Given the description of an element on the screen output the (x, y) to click on. 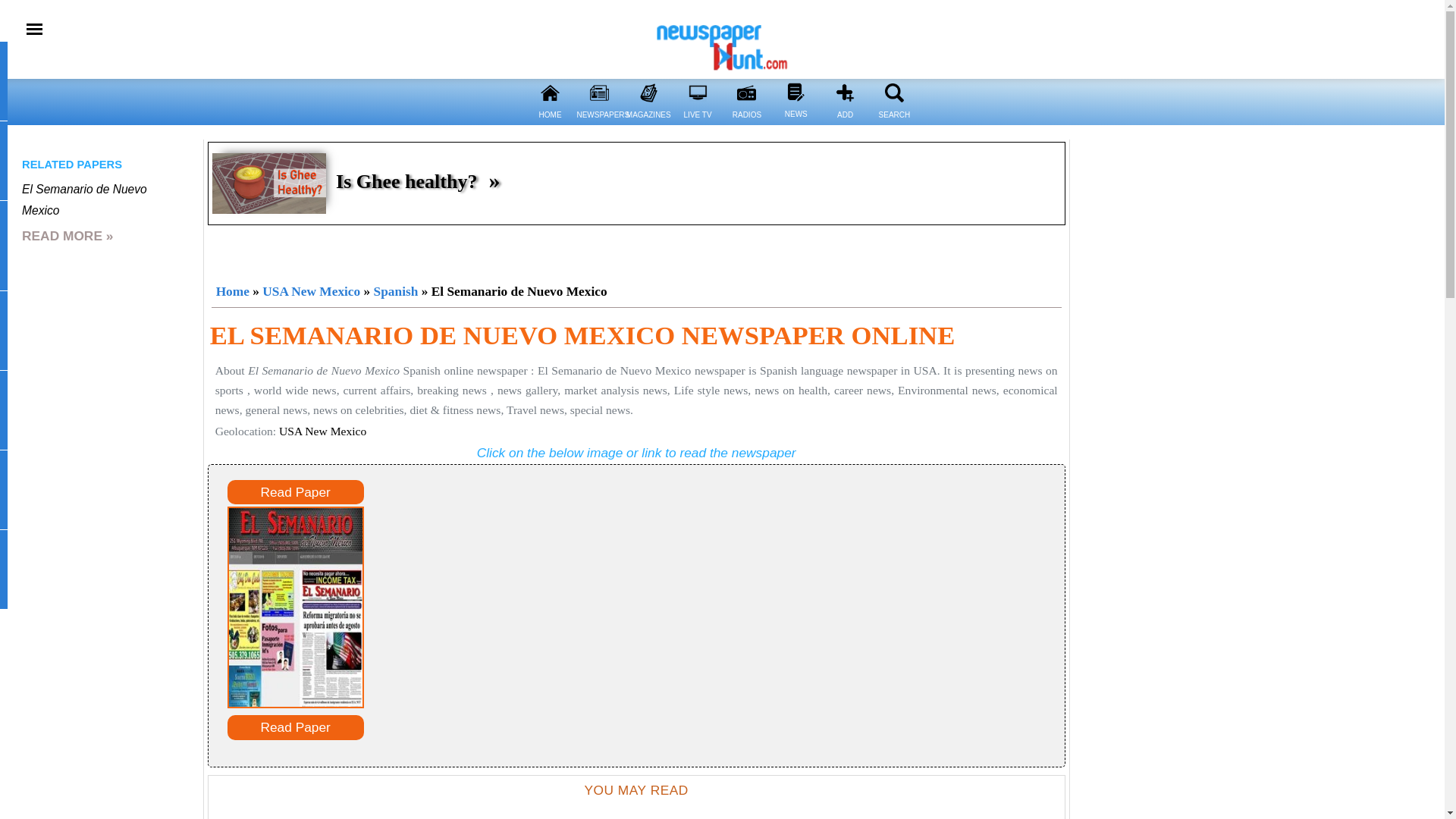
Spanish Newspapers in usa-new-mexico (396, 291)
Read Paper (295, 727)
Spanish (396, 291)
MAGAZINE (648, 92)
NEWSPAPERS (598, 124)
USA New Mexico Newspapers (310, 291)
ADD PAPER (844, 92)
Home (231, 291)
El Semanario de Nuevo Mexico (84, 199)
ADD (844, 124)
USA New Mexico (310, 291)
HOME (549, 92)
Read Paper (295, 492)
SEARCH (894, 92)
SEARCH (893, 124)
